Given the description of an element on the screen output the (x, y) to click on. 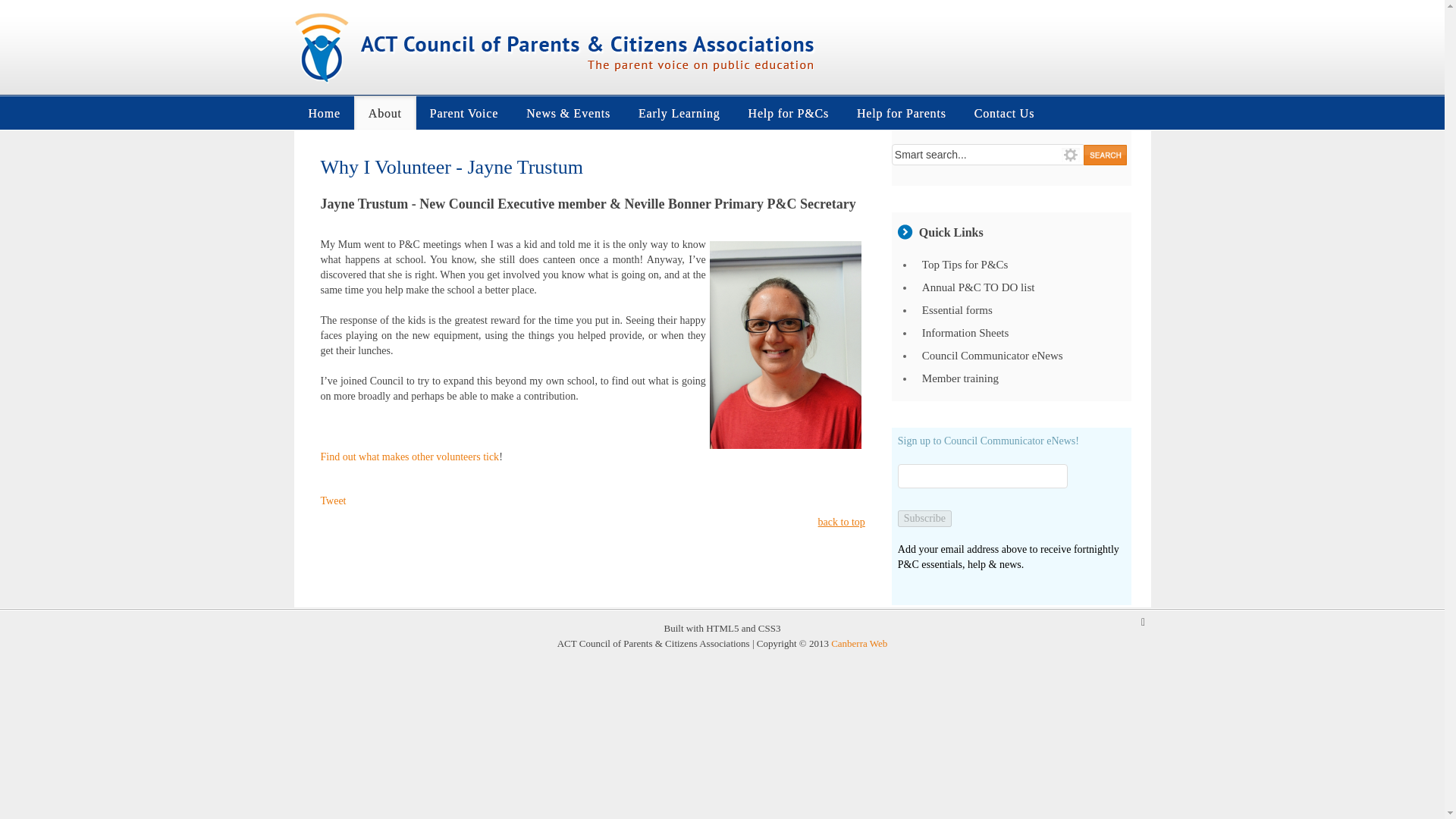
Find out what makes other volunteers tick (409, 456)
Home (324, 112)
Subscribe (925, 518)
Tweet (333, 500)
Contact Us (1004, 112)
Help for Parents (901, 112)
Early Learning (679, 112)
back to top (841, 521)
Parent Voice (463, 112)
Canberra Web Designer (858, 643)
